Given the description of an element on the screen output the (x, y) to click on. 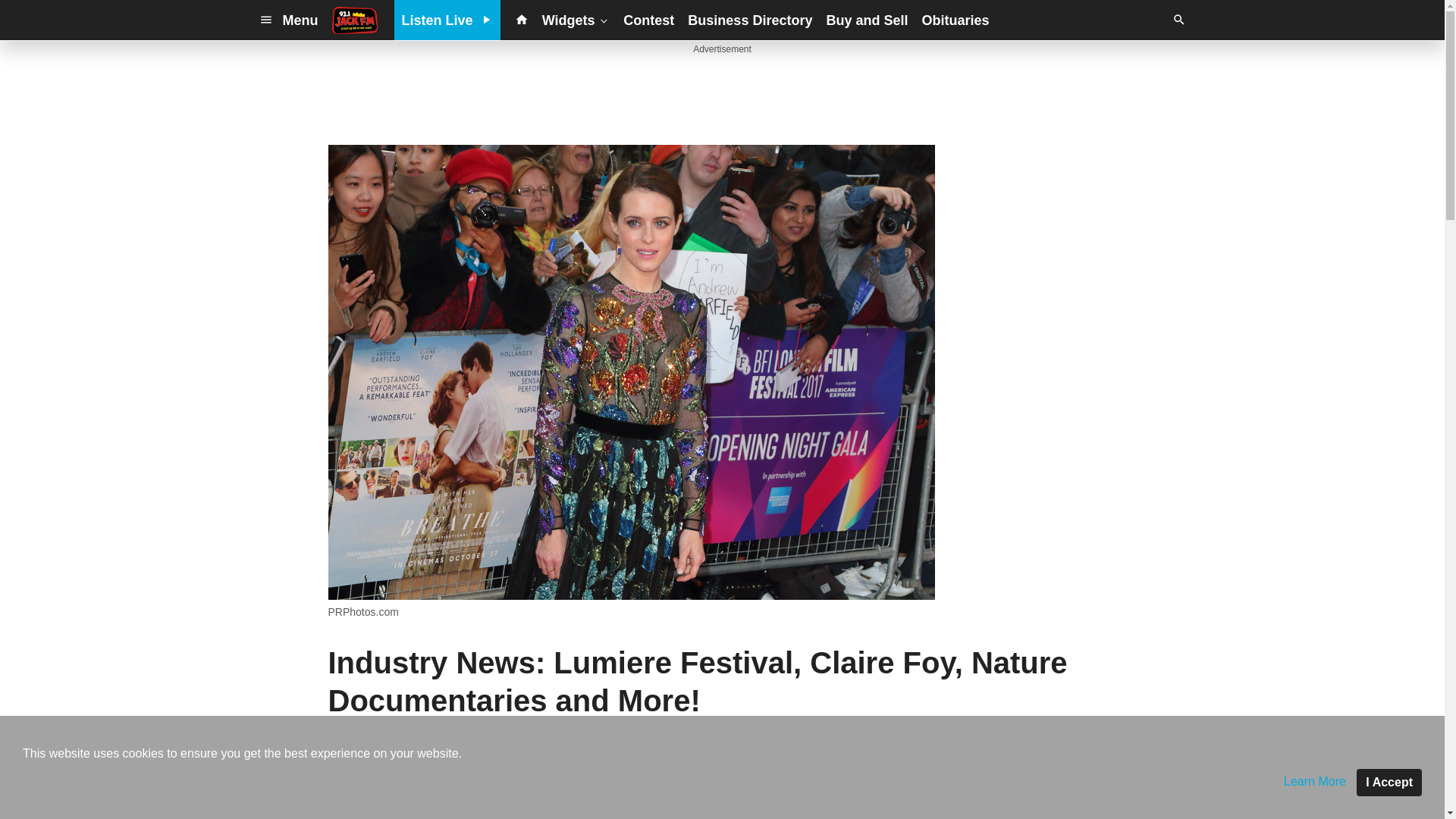
Contest (648, 19)
Menu (287, 19)
Business Directory (749, 19)
Widgets (576, 19)
Listen Live (447, 20)
Buy and Sell (866, 19)
Obituaries (954, 19)
